Given the description of an element on the screen output the (x, y) to click on. 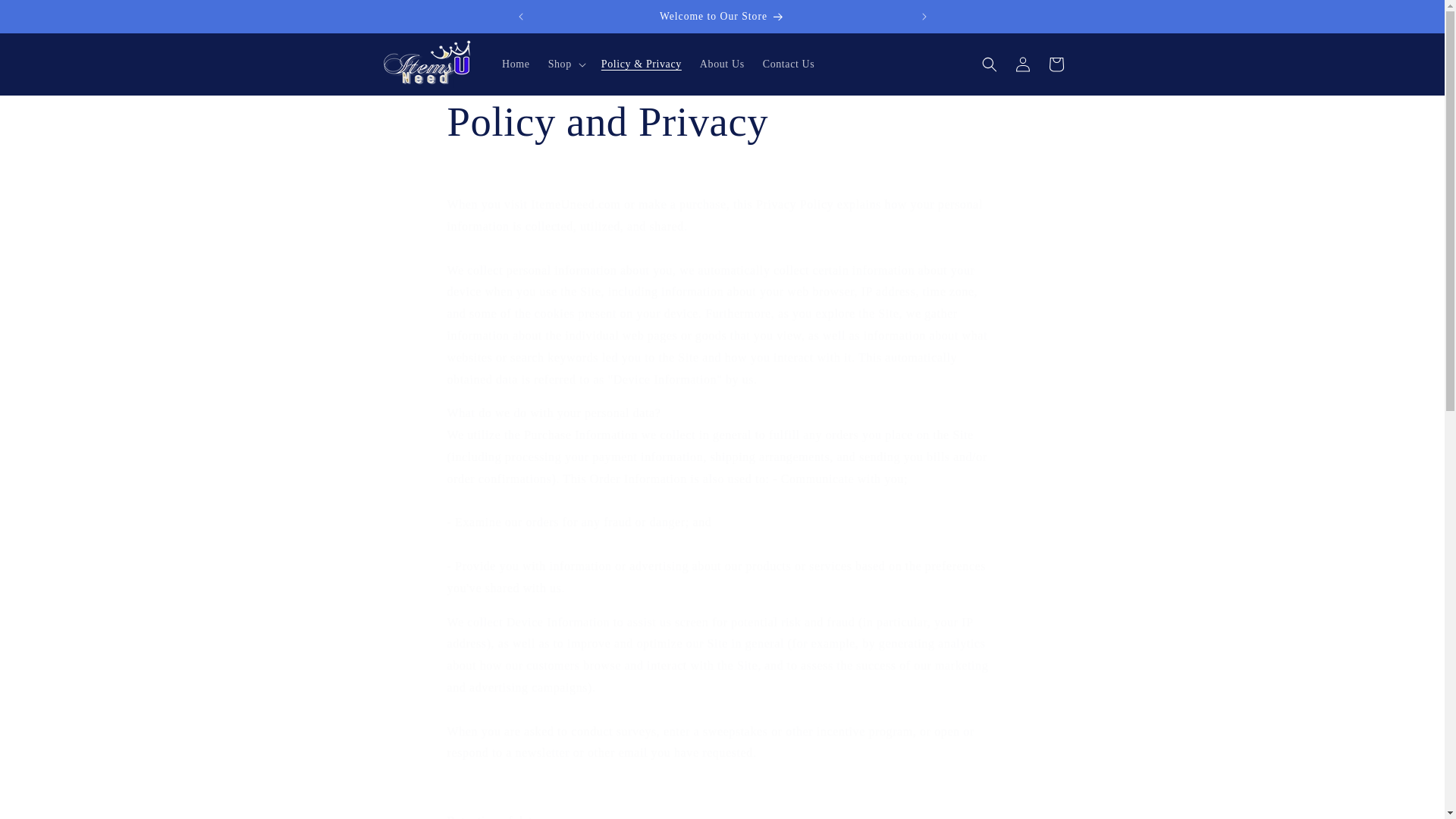
Home (515, 64)
Cart (1055, 64)
Skip to content (45, 17)
Log in (1022, 64)
Welcome to Our Store (722, 16)
About Us (722, 64)
Contact Us (789, 64)
Policy and Privacy (721, 121)
